Given the description of an element on the screen output the (x, y) to click on. 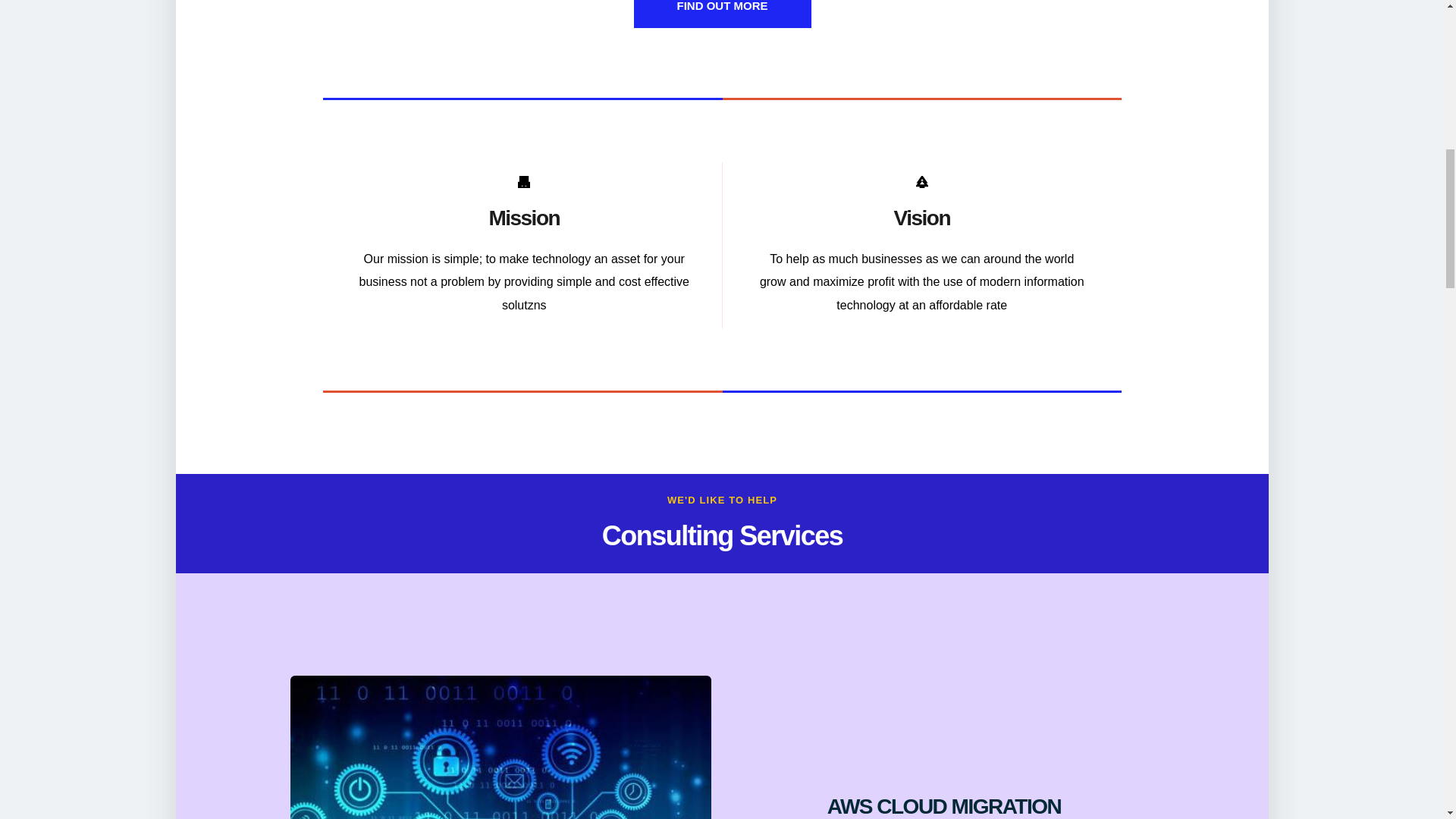
FIND OUT MORE (721, 13)
